Given the description of an element on the screen output the (x, y) to click on. 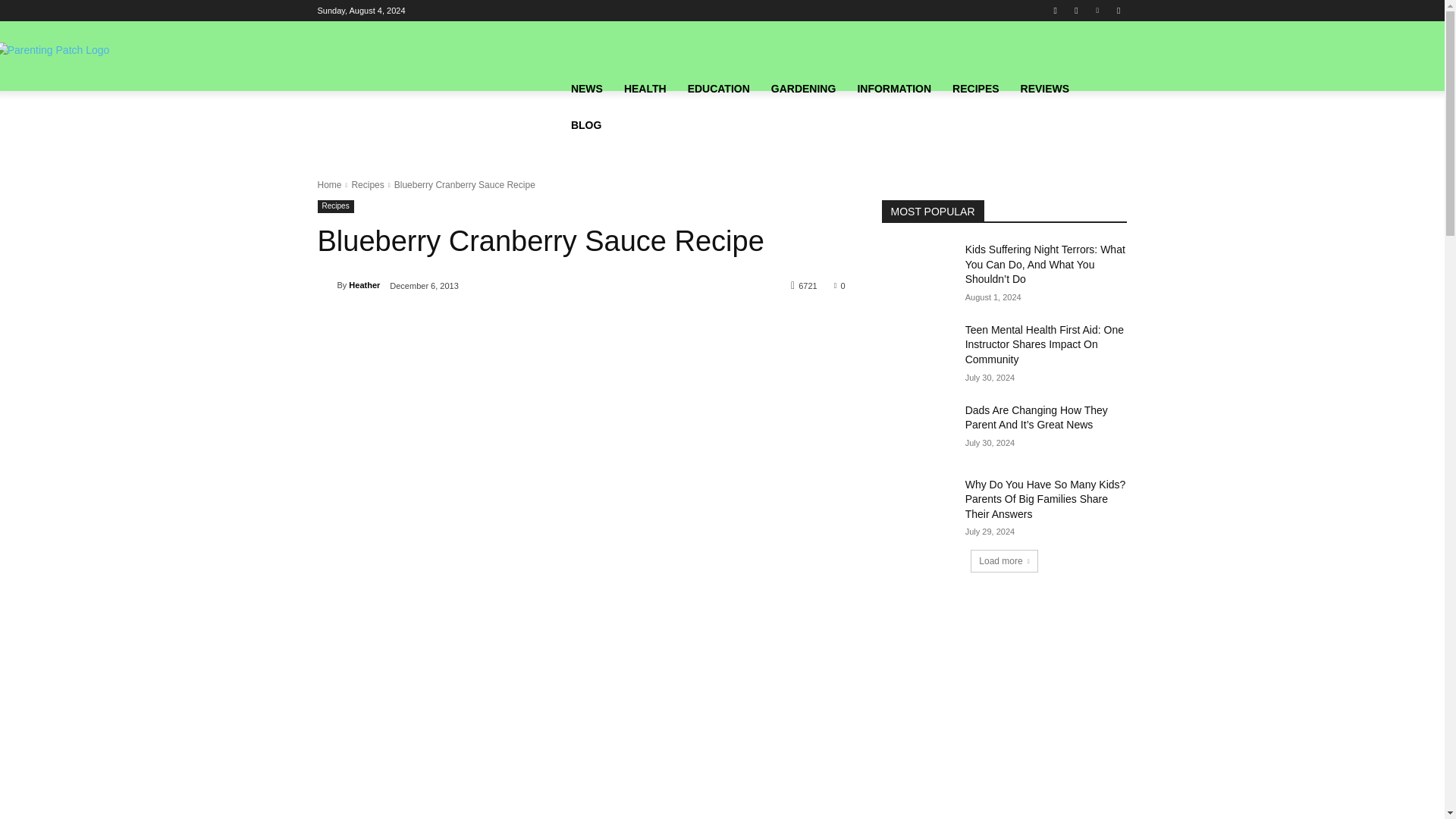
EDUCATION (718, 87)
Twitter (1117, 9)
Parenting Patch Logo (438, 106)
View all posts in Recipes (367, 184)
NEWS (586, 87)
Recipes (367, 184)
Facebook (1055, 9)
REVIEWS (1045, 87)
Heather (326, 284)
0 (839, 284)
INFORMATION (893, 87)
RECIPES (975, 87)
Recipes (335, 205)
BLOG (585, 124)
Home (328, 184)
